Given the description of an element on the screen output the (x, y) to click on. 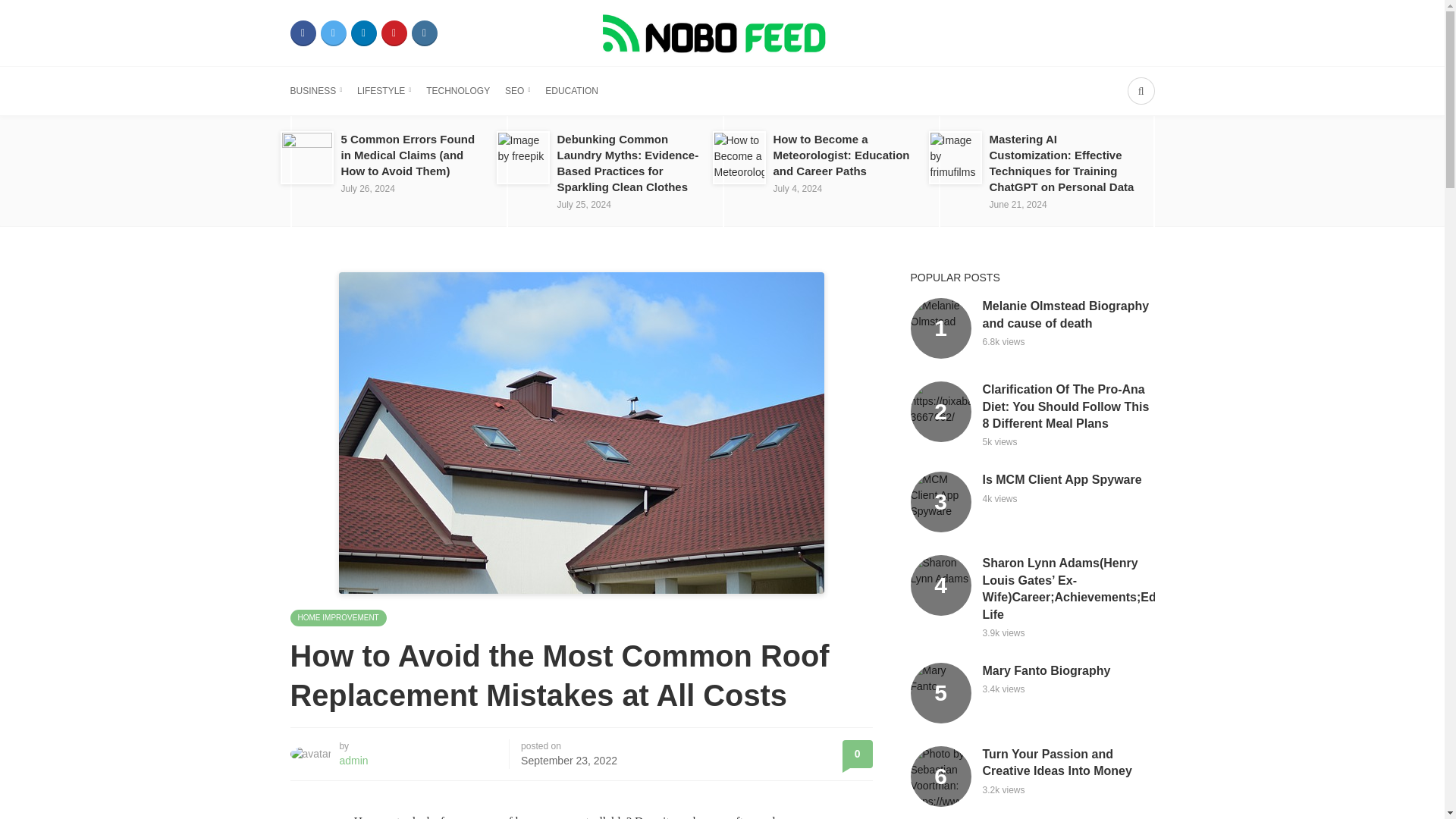
TECHNOLOGY (457, 90)
Posts by admin (353, 760)
Instagram (423, 32)
Nobofeed (721, 32)
June 21, 2024 (1017, 204)
EDUCATION (571, 90)
July 25, 2024 (583, 204)
July 4, 2024 (797, 188)
Linkedin (362, 32)
BUSINESS (315, 90)
